Given the description of an element on the screen output the (x, y) to click on. 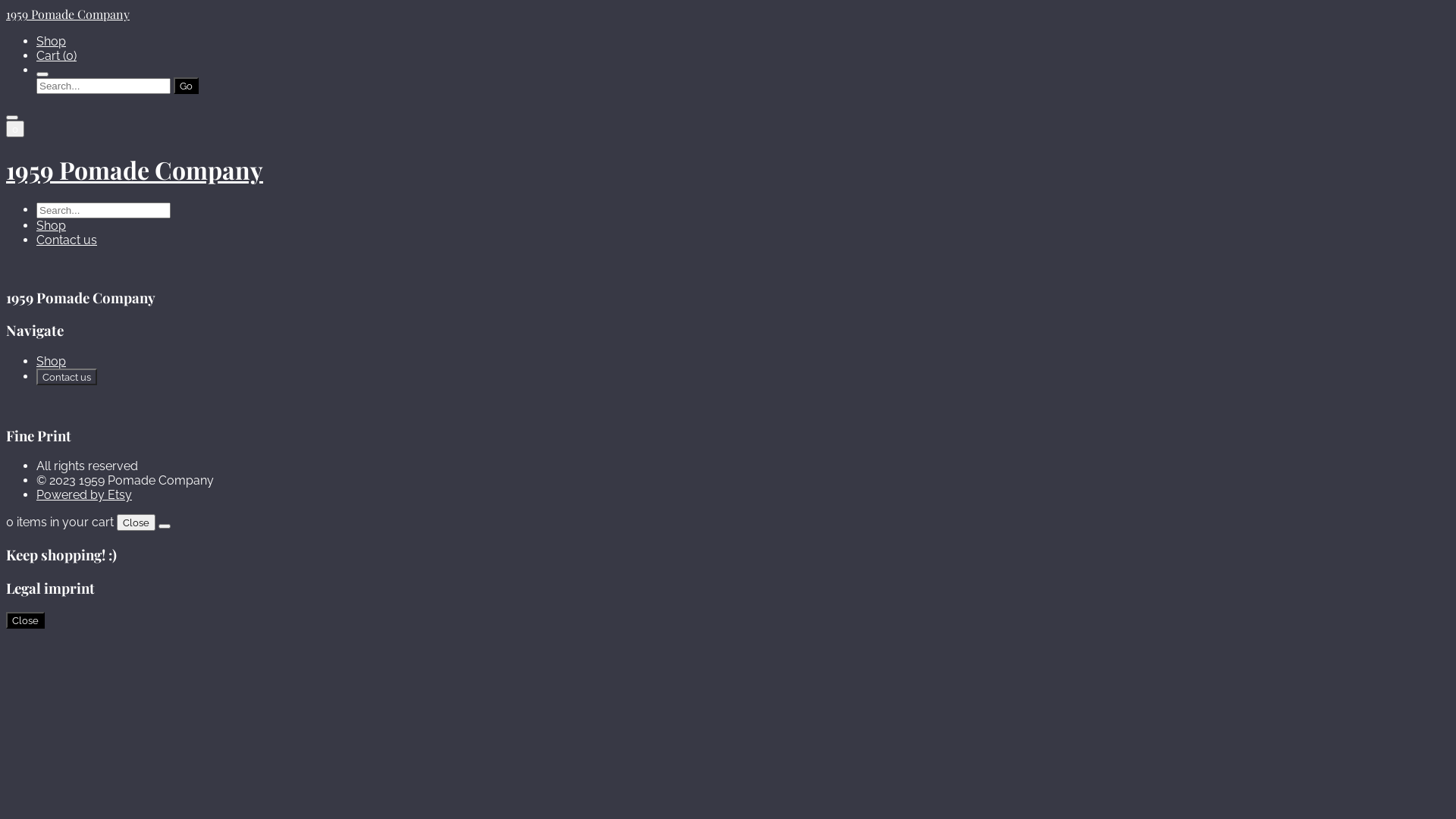
1959 Pomade Company Element type: text (727, 13)
Shop Element type: text (50, 361)
Close Element type: text (25, 619)
1959 Pomade Company Element type: text (727, 169)
Contact us Element type: text (66, 376)
Cart (0) Element type: text (56, 55)
Close Element type: text (135, 522)
Go Element type: text (185, 85)
Shop Element type: text (50, 41)
Powered by Etsy Element type: text (83, 494)
Contact us Element type: text (66, 239)
0 Element type: text (15, 128)
Shop Element type: text (50, 225)
